Given the description of an element on the screen output the (x, y) to click on. 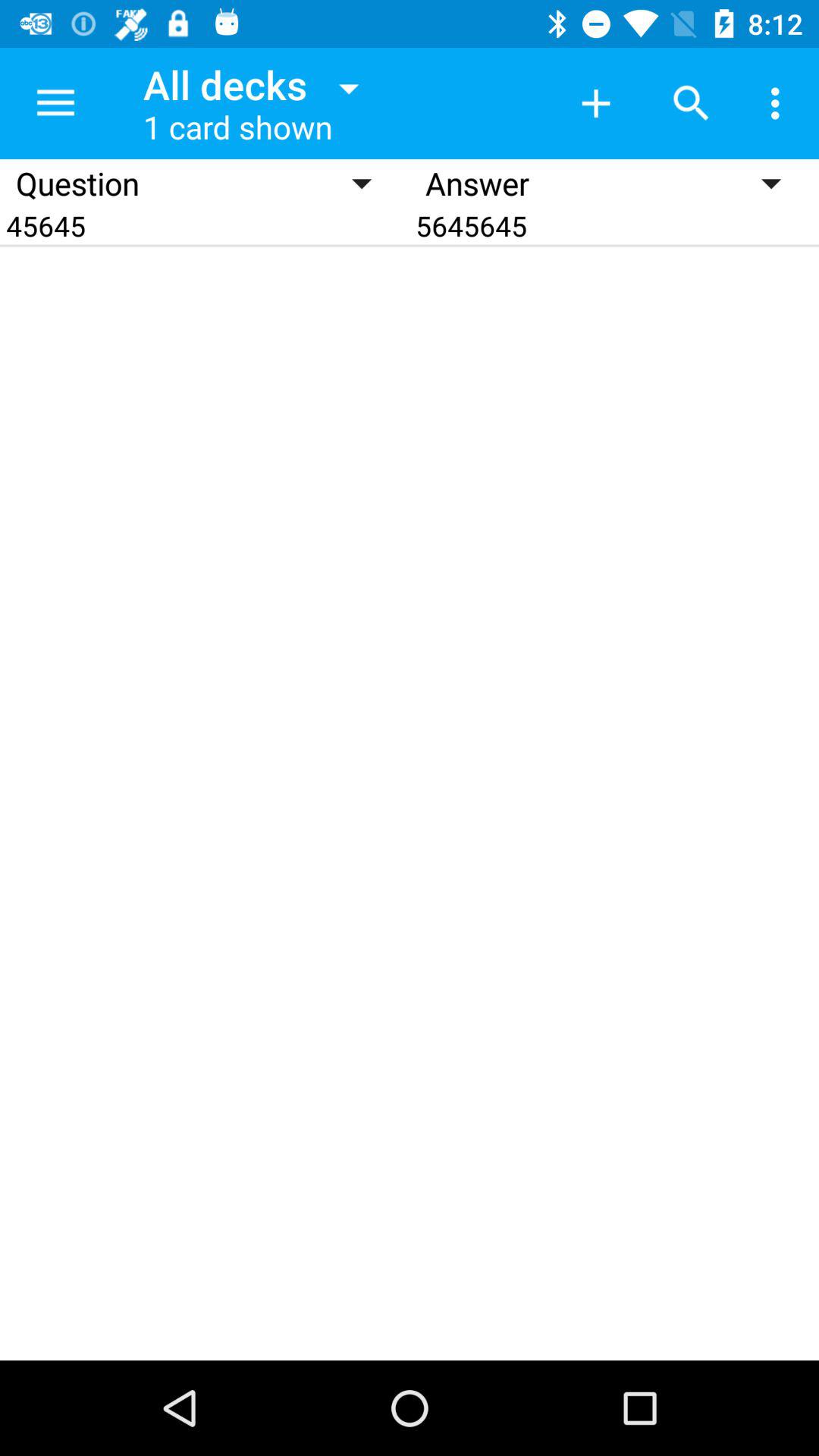
press the item to the left of the all decks (55, 103)
